Given the description of an element on the screen output the (x, y) to click on. 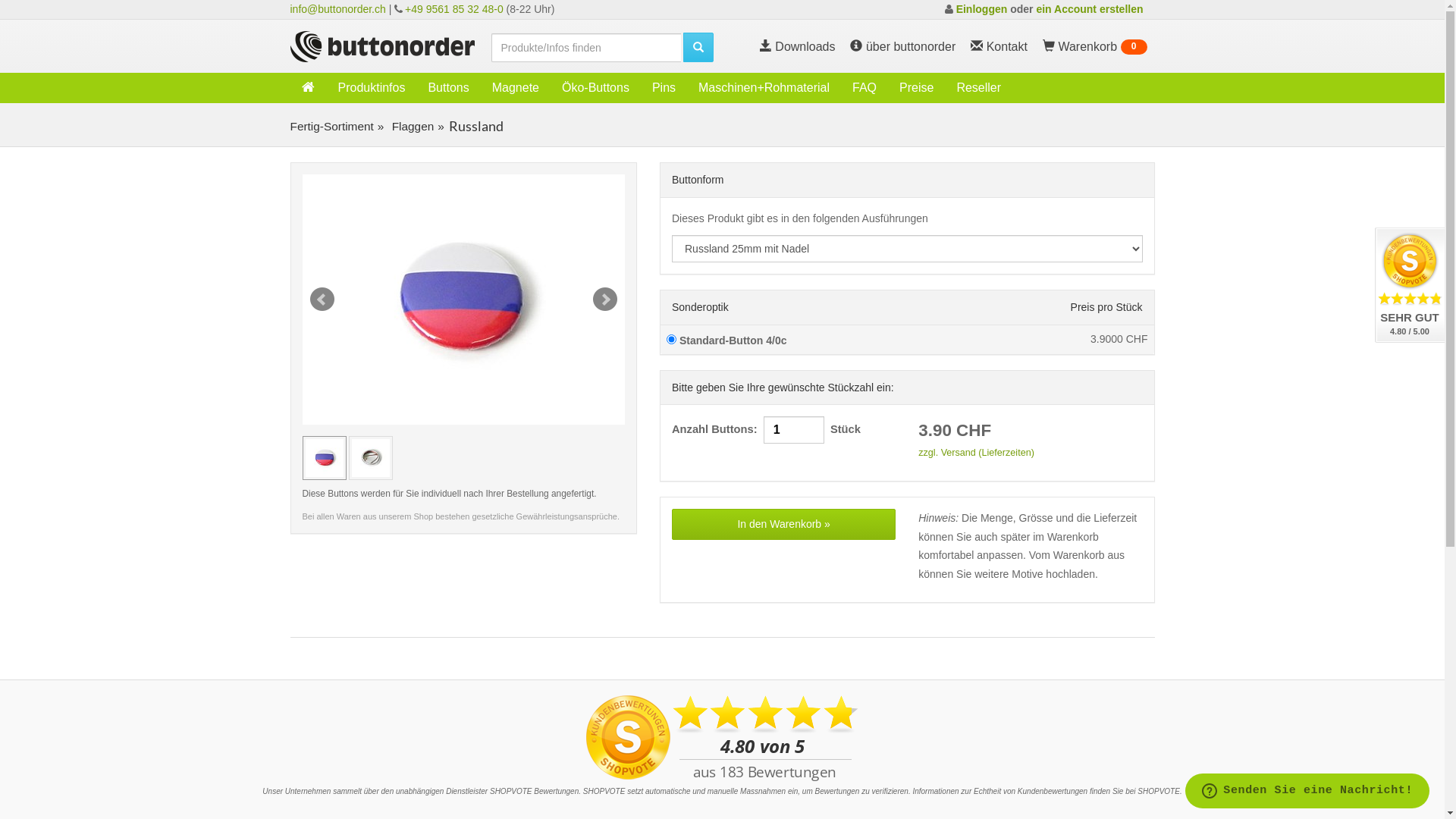
Weiter zur Buttonorder-Startseite Element type: hover (308, 86)
Pins Element type: text (663, 87)
Next Element type: text (605, 299)
Einloggen Element type: text (981, 9)
Maschinen+Rohmaterial Element type: text (763, 87)
Reseller Element type: text (978, 87)
Buttons Element type: text (448, 87)
+49 9561 85 32 48-0 Element type: text (453, 9)
Warenkorb 0 Element type: text (1094, 46)
Fertig-Sortiment Element type: text (331, 125)
Downloads Element type: text (797, 46)
info@buttonorder.ch Element type: text (337, 9)
Preise Element type: text (916, 87)
Weiter zur Buttonorder-Startseite Element type: hover (381, 45)
FAQ Element type: text (864, 87)
Prev Element type: text (321, 299)
Produktinfos Element type: text (371, 87)
Magnete Element type: text (515, 87)
ein Account erstellen Element type: text (1088, 9)
Flaggen Element type: text (410, 125)
Kontakt Element type: text (999, 46)
